Given the description of an element on the screen output the (x, y) to click on. 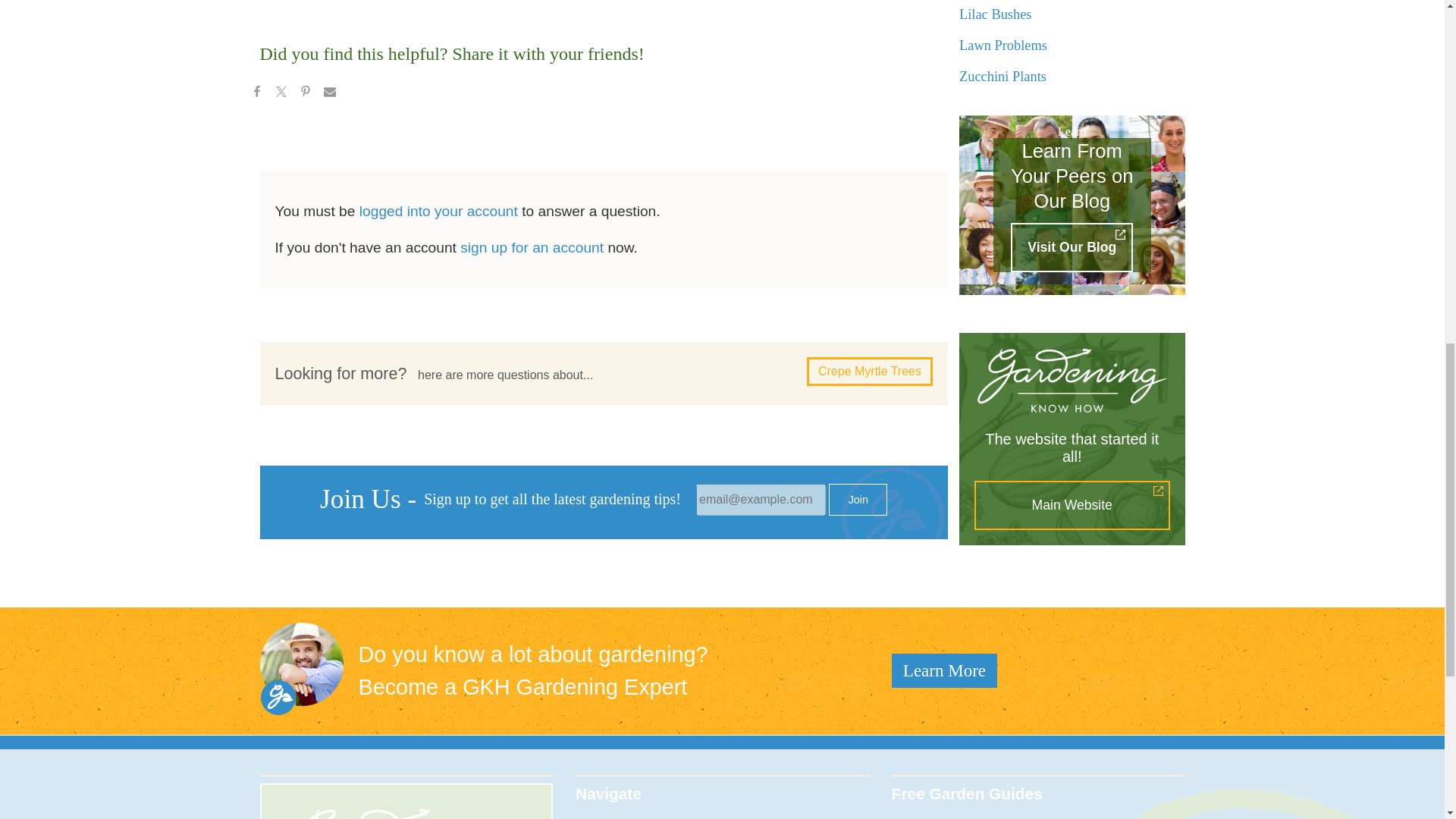
Crepe Myrtle Trees (869, 371)
Share on Facebook (255, 93)
logged into your account (438, 211)
Share on Twitter (279, 93)
Join (857, 499)
Share on Pinterest (304, 93)
Share via Email (328, 93)
sign up for an account (532, 247)
